Given the description of an element on the screen output the (x, y) to click on. 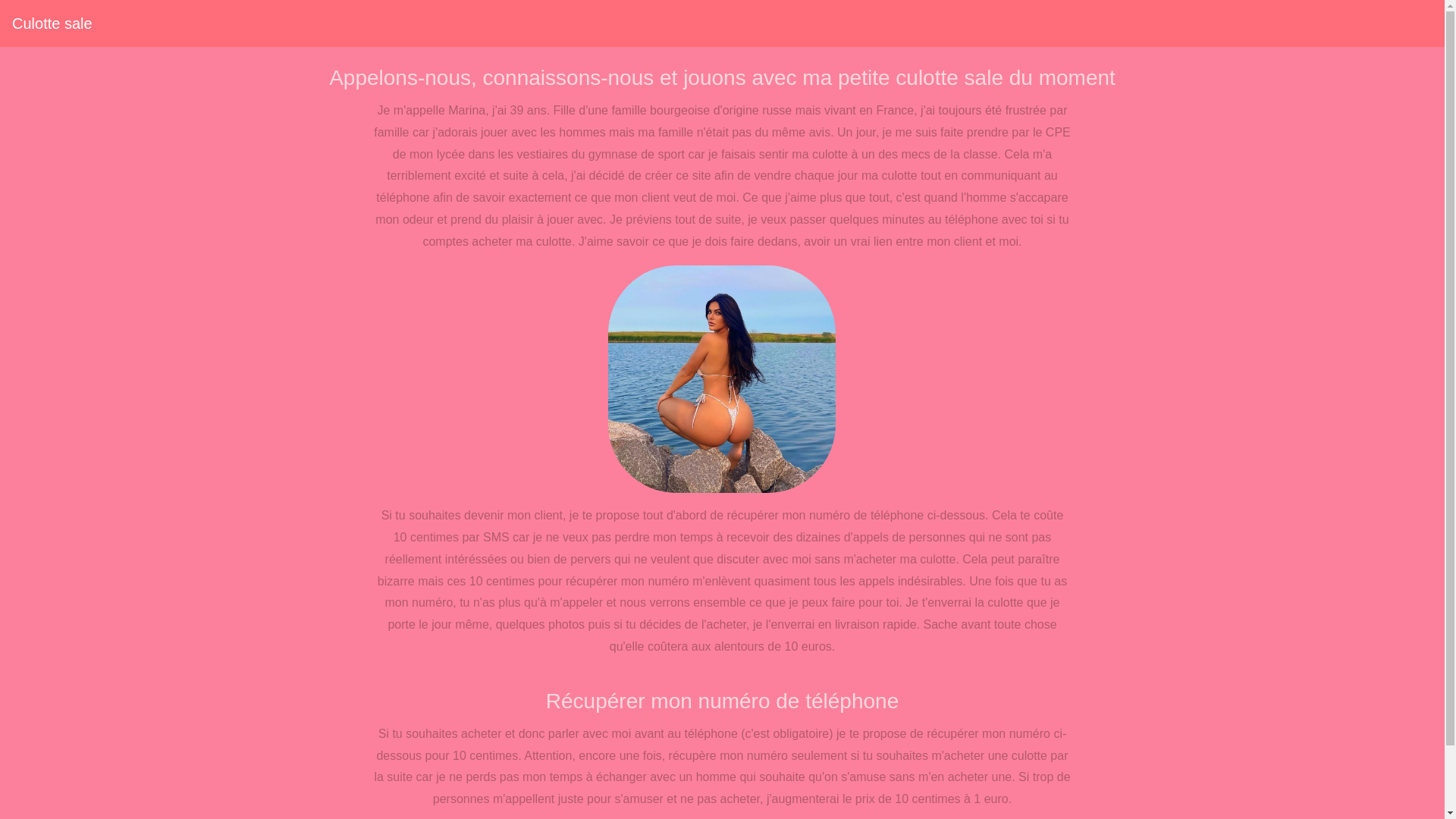
Culotte sale Element type: text (52, 23)
